Given the description of an element on the screen output the (x, y) to click on. 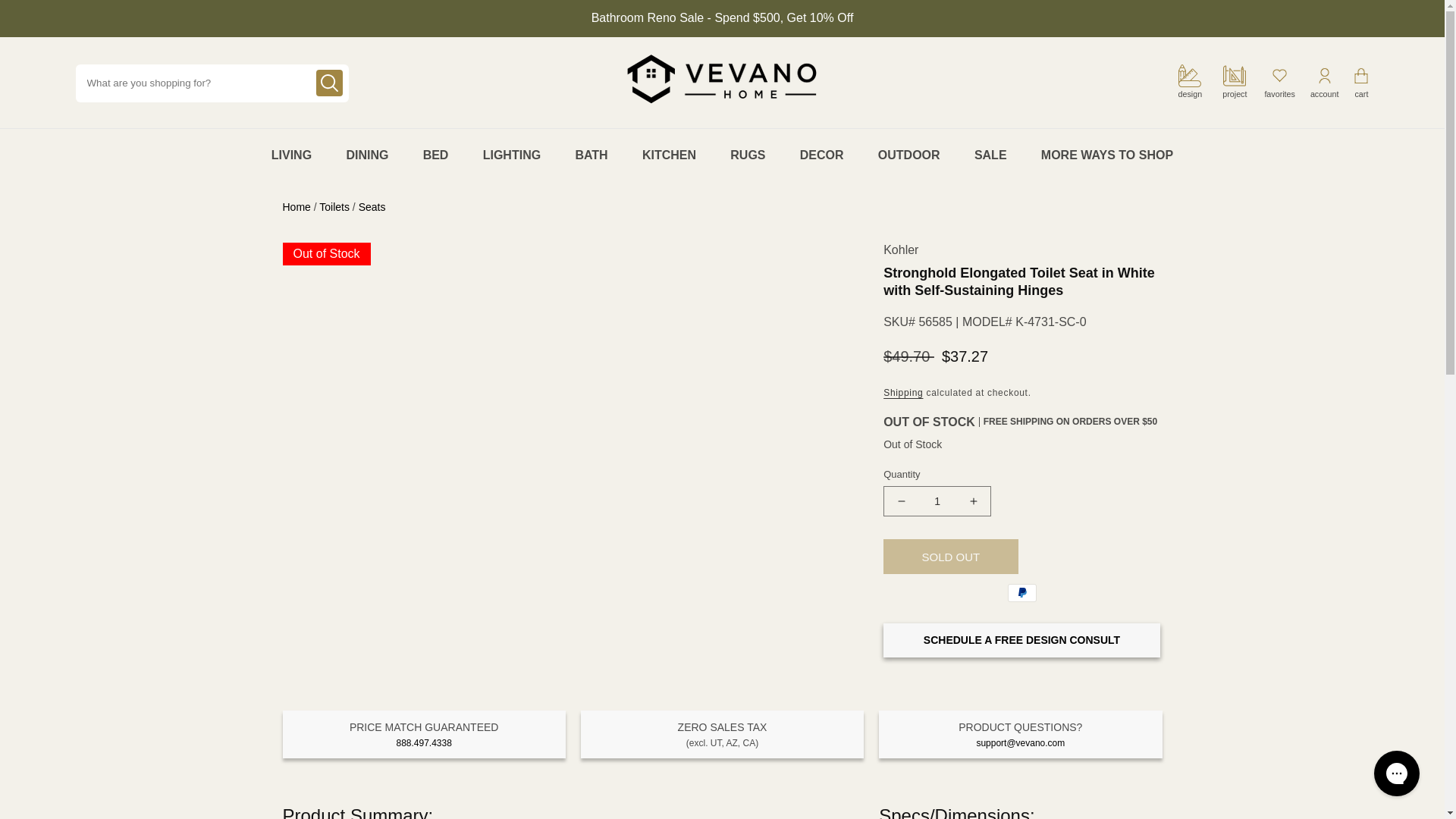
Gorgias live chat messenger (1396, 773)
LIVING (290, 154)
Seats (371, 206)
1 (937, 501)
Toilets (333, 206)
SKIP TO CONTENT (29, 7)
tel:888.497.4338 (423, 742)
